Given the description of an element on the screen output the (x, y) to click on. 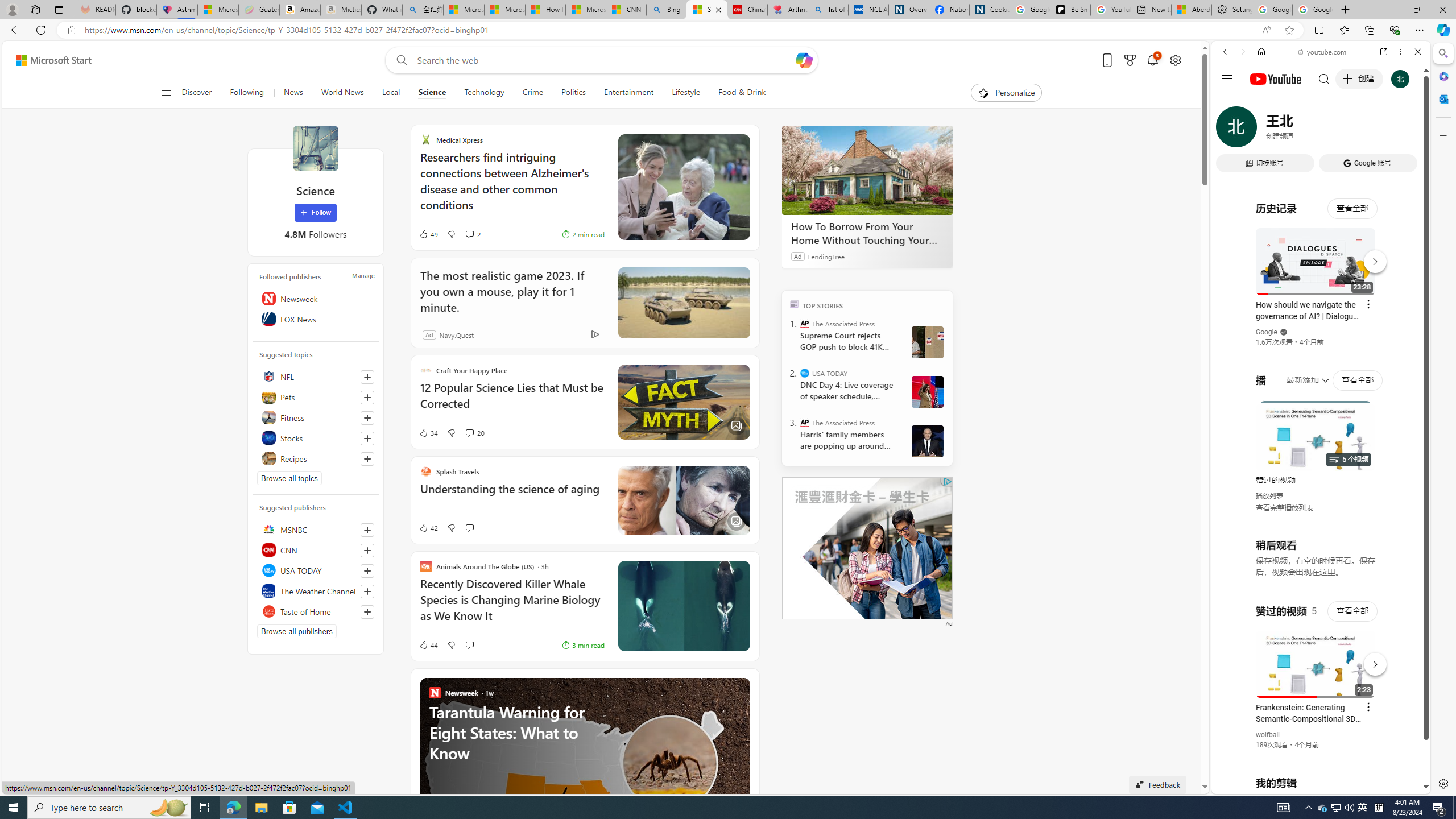
NCL Adult Asthma Inhaler Choice Guideline (868, 9)
Search Filter, VIDEOS (1300, 129)
View comments 2 Comment (469, 234)
News (292, 92)
The Associated Press (804, 422)
Search the web (1326, 78)
Tab actions menu (58, 9)
Trailer #2 [HD] (1320, 336)
Settings and more (Alt+F) (1419, 29)
Web scope (1230, 102)
Follow this source (367, 612)
Open Copilot (803, 59)
